Given the description of an element on the screen output the (x, y) to click on. 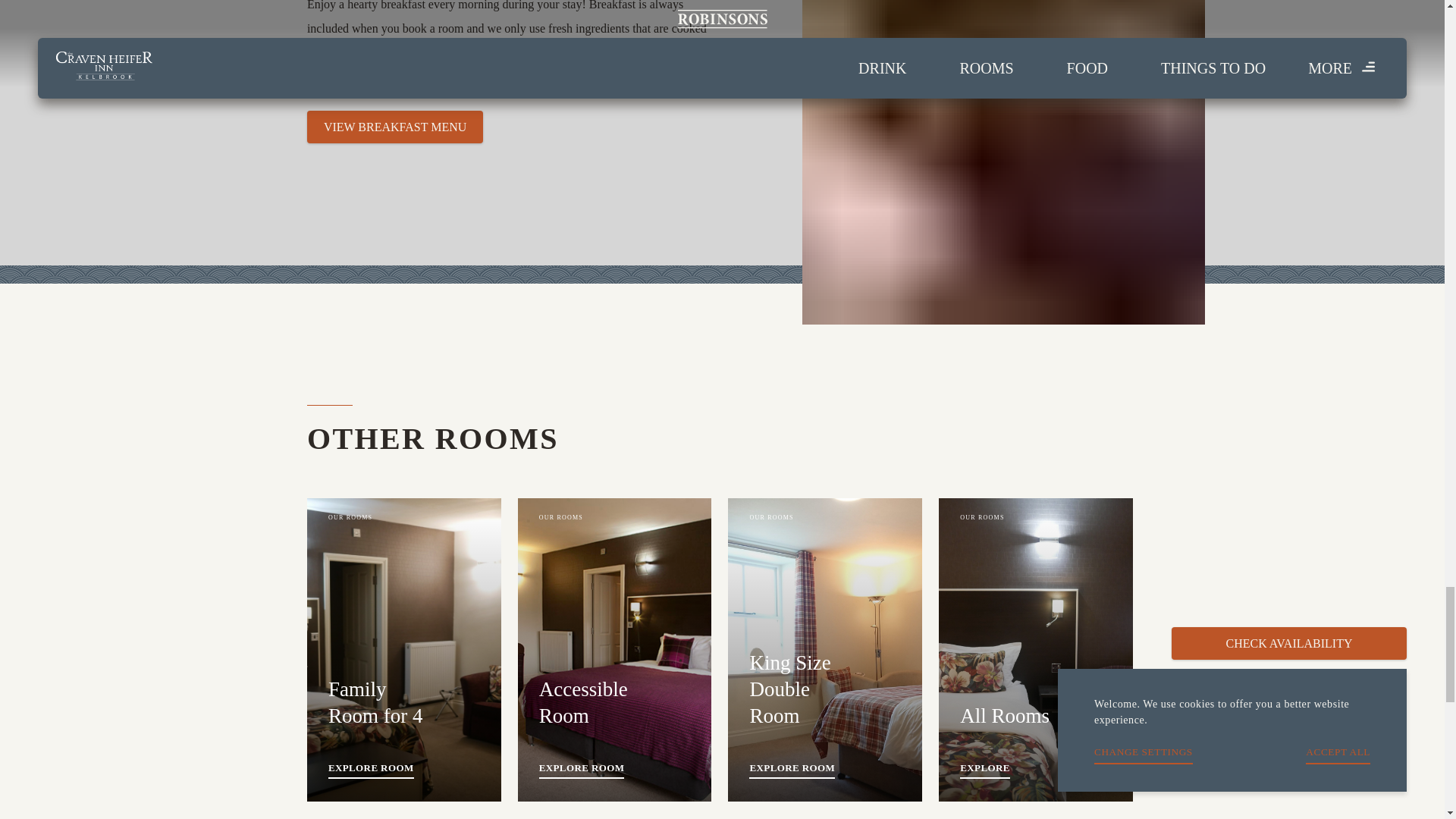
VIEW BREAKFAST MENU (395, 125)
VIEW BREAKFAST MENU (403, 649)
